Given the description of an element on the screen output the (x, y) to click on. 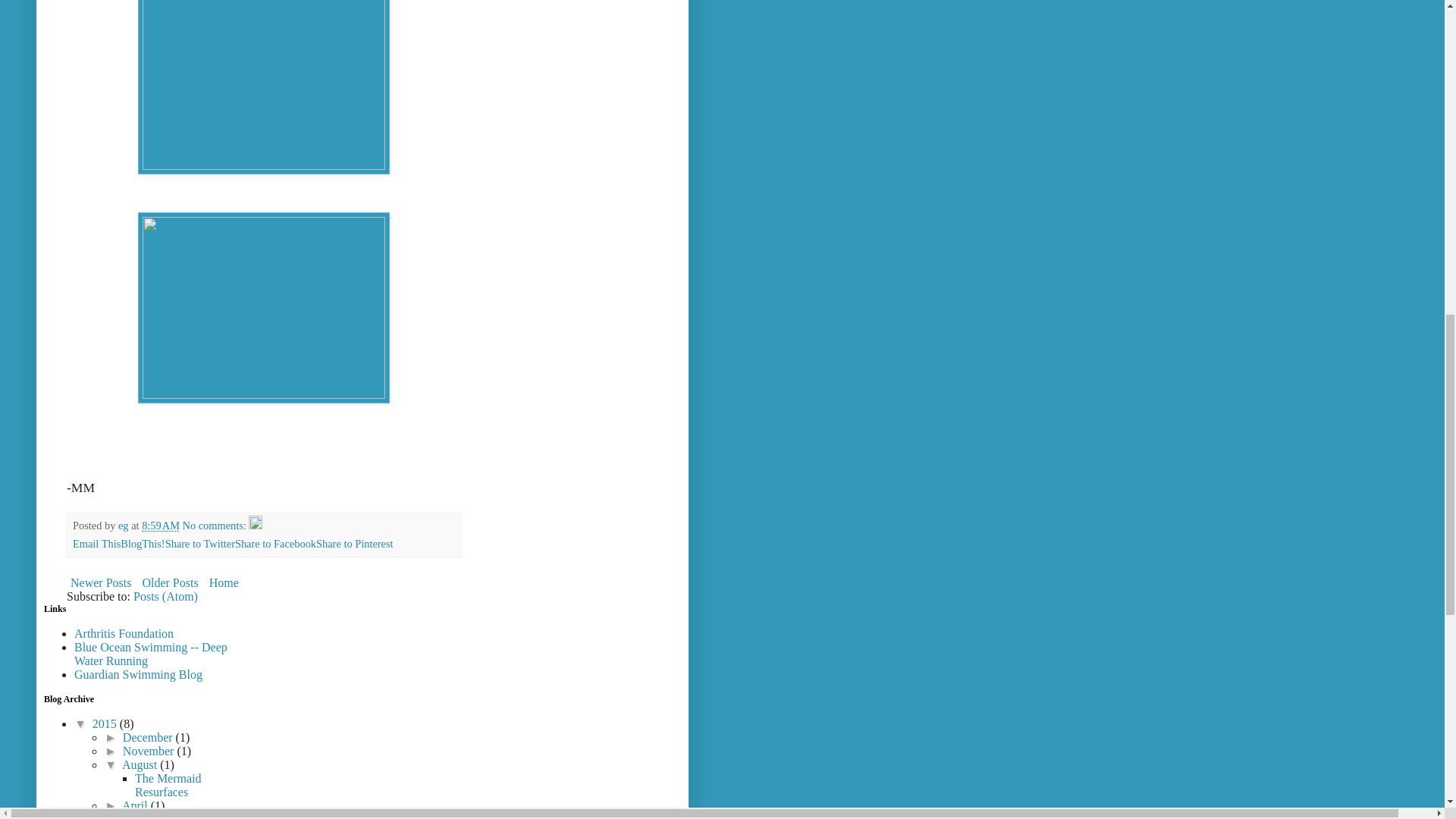
Edit Post (255, 525)
Email This (96, 543)
April (136, 805)
August (141, 764)
Share to Facebook (274, 543)
BlogThis! (142, 543)
2015 (106, 723)
February (146, 816)
Email This (96, 543)
December (149, 737)
Blue Ocean Swimming -- Deep Water Running (150, 653)
Share to Facebook (274, 543)
author profile (124, 525)
The Mermaid Resurfaces (168, 785)
